Given the description of an element on the screen output the (x, y) to click on. 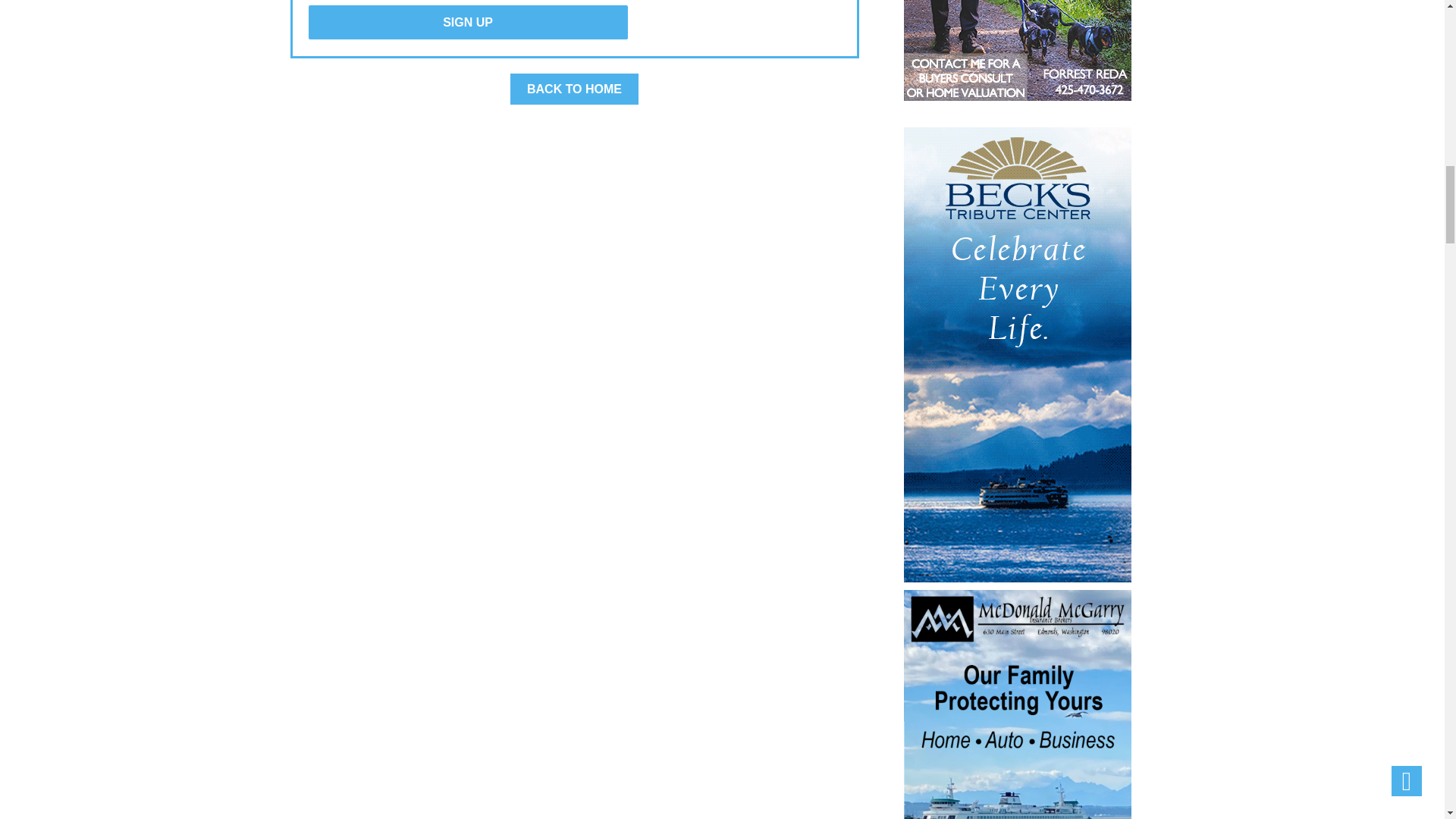
Sign Up (467, 21)
